Given the description of an element on the screen output the (x, y) to click on. 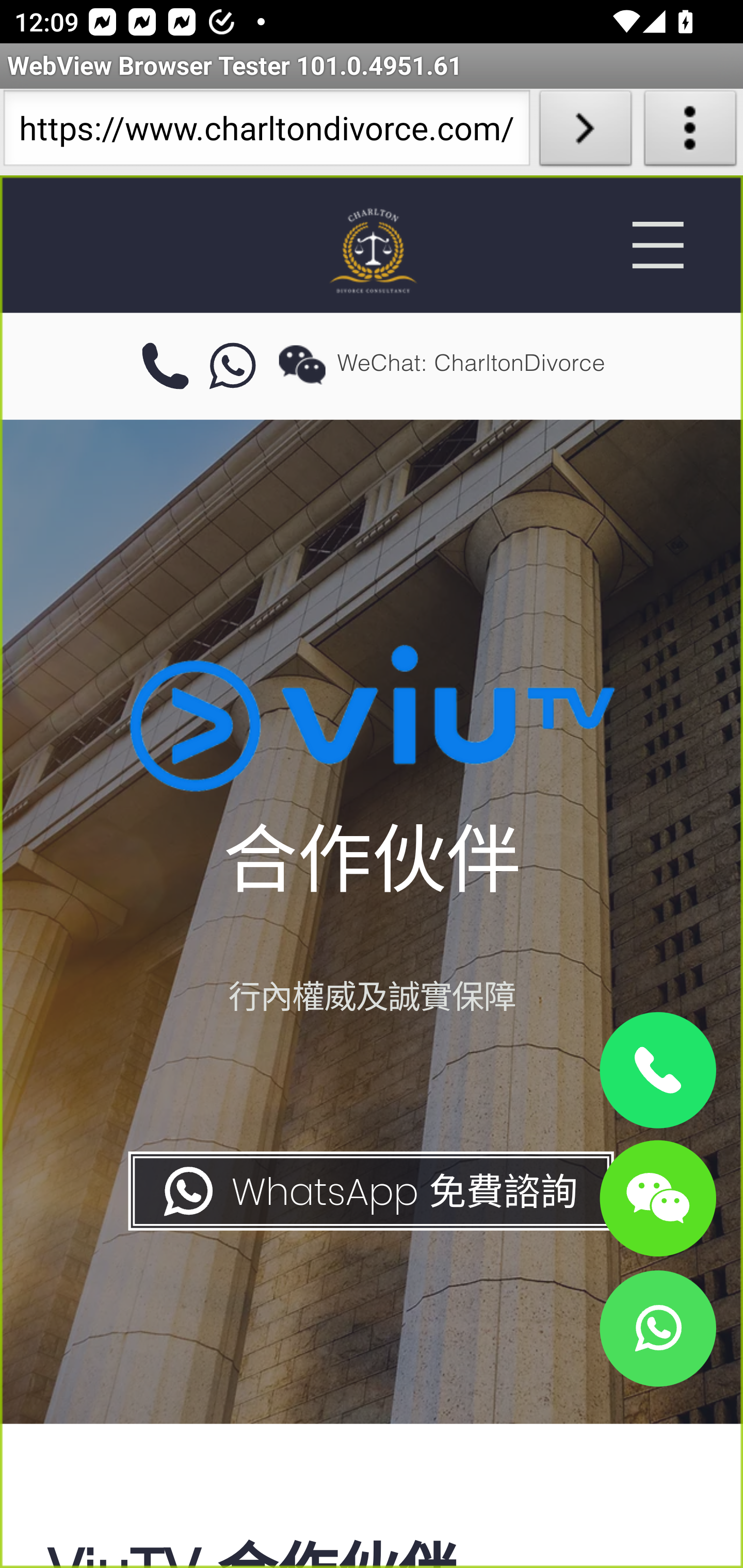
Load URL (585, 132)
About WebView (690, 132)
Open navigation menu (657, 245)
500x500 沒背景.png (371, 249)
tel:+852 9692 7577 (164, 366)
o7rumn (232, 366)
wechat2_edited_edited.png (301, 364)
Phone (657, 1070)
WeChat: CharltonDivorce (657, 1196)
WhatsApp 免費諮詢 (369, 1191)
WhatsApp (657, 1327)
